Given the description of an element on the screen output the (x, y) to click on. 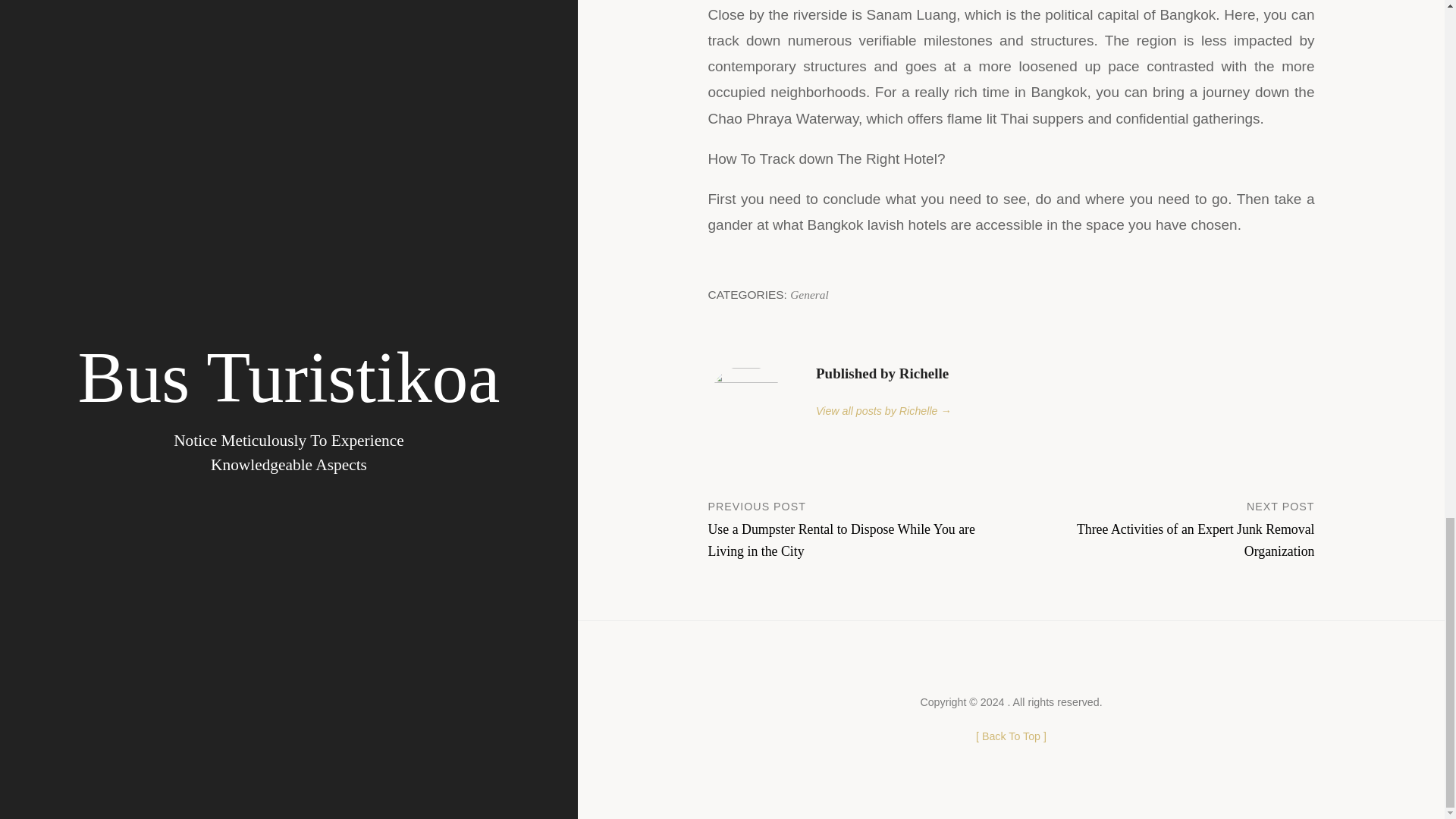
General (809, 294)
Back To Top (1010, 736)
